Given the description of an element on the screen output the (x, y) to click on. 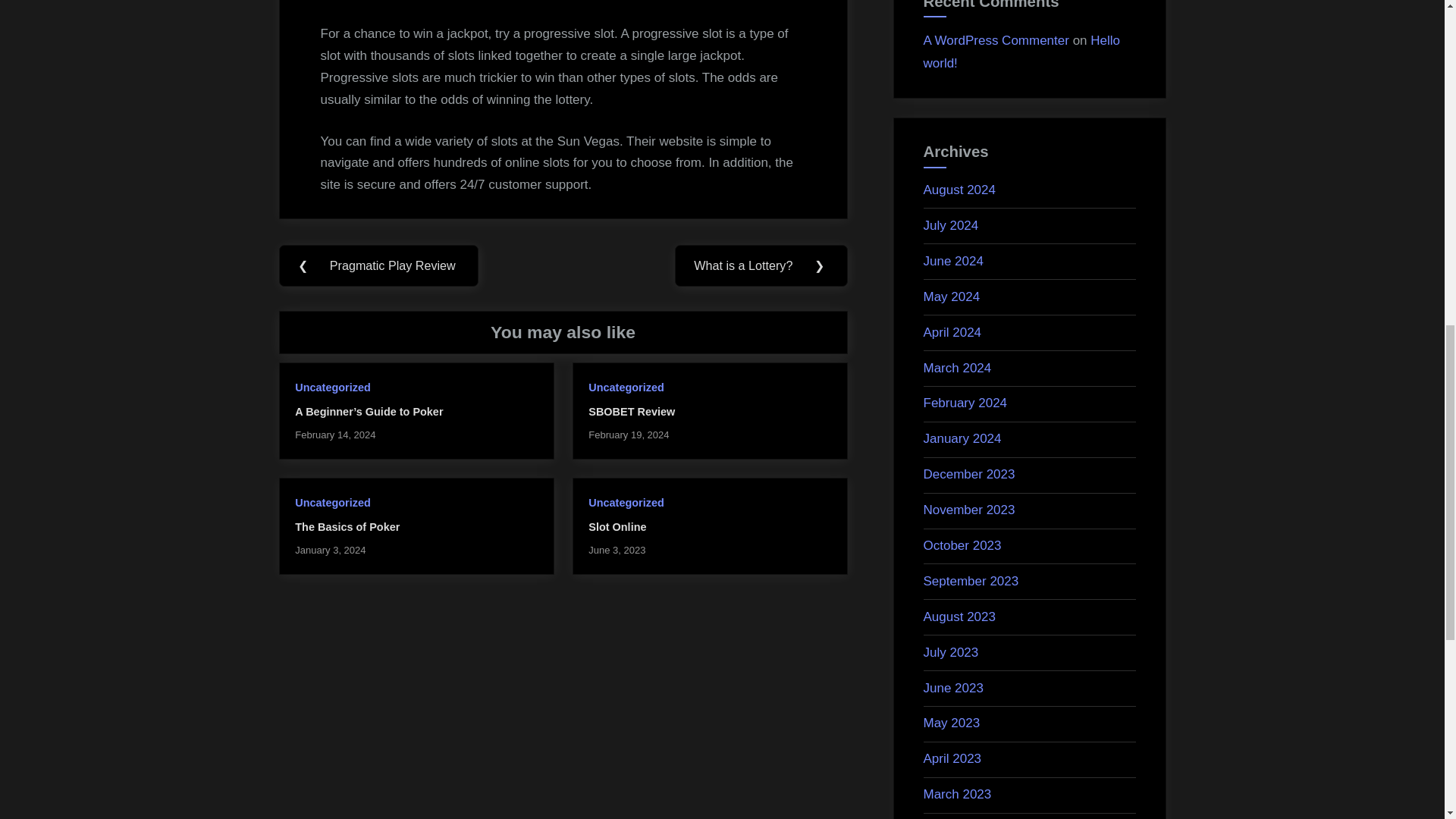
November 2023 (968, 509)
SBOBET Review (631, 411)
March 2024 (957, 368)
A WordPress Commenter (995, 40)
Uncategorized (332, 387)
April 2024 (952, 332)
Uncategorized (625, 387)
August 2024 (959, 189)
September 2023 (971, 581)
January 2024 (962, 438)
July 2024 (950, 225)
Uncategorized (332, 502)
Uncategorized (625, 502)
December 2023 (968, 473)
May 2024 (951, 296)
